Given the description of an element on the screen output the (x, y) to click on. 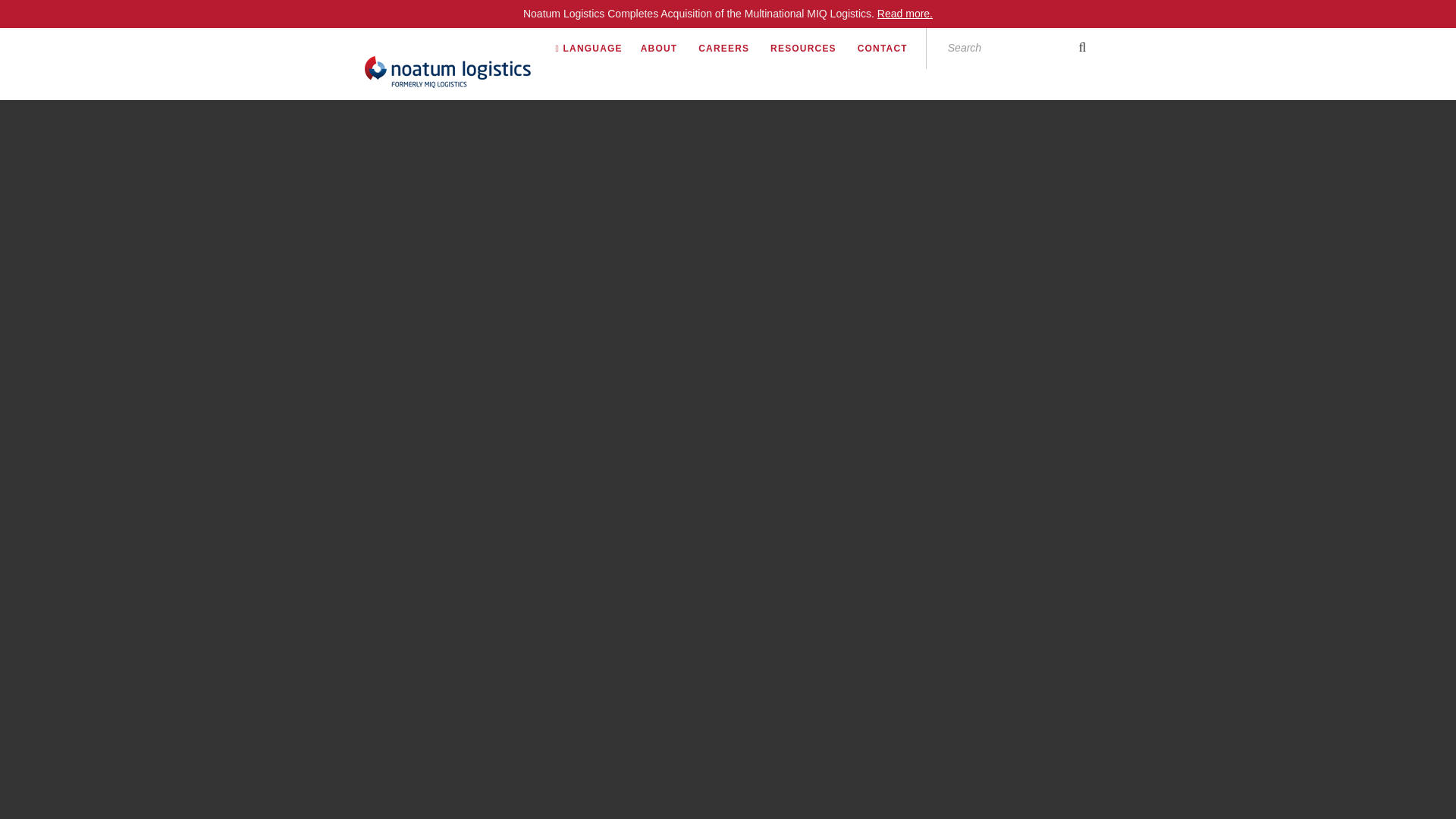
CAREERS (732, 47)
ABOUT (667, 47)
Read more. (905, 13)
CONTACT (891, 47)
RESOURCES (812, 47)
